Given the description of an element on the screen output the (x, y) to click on. 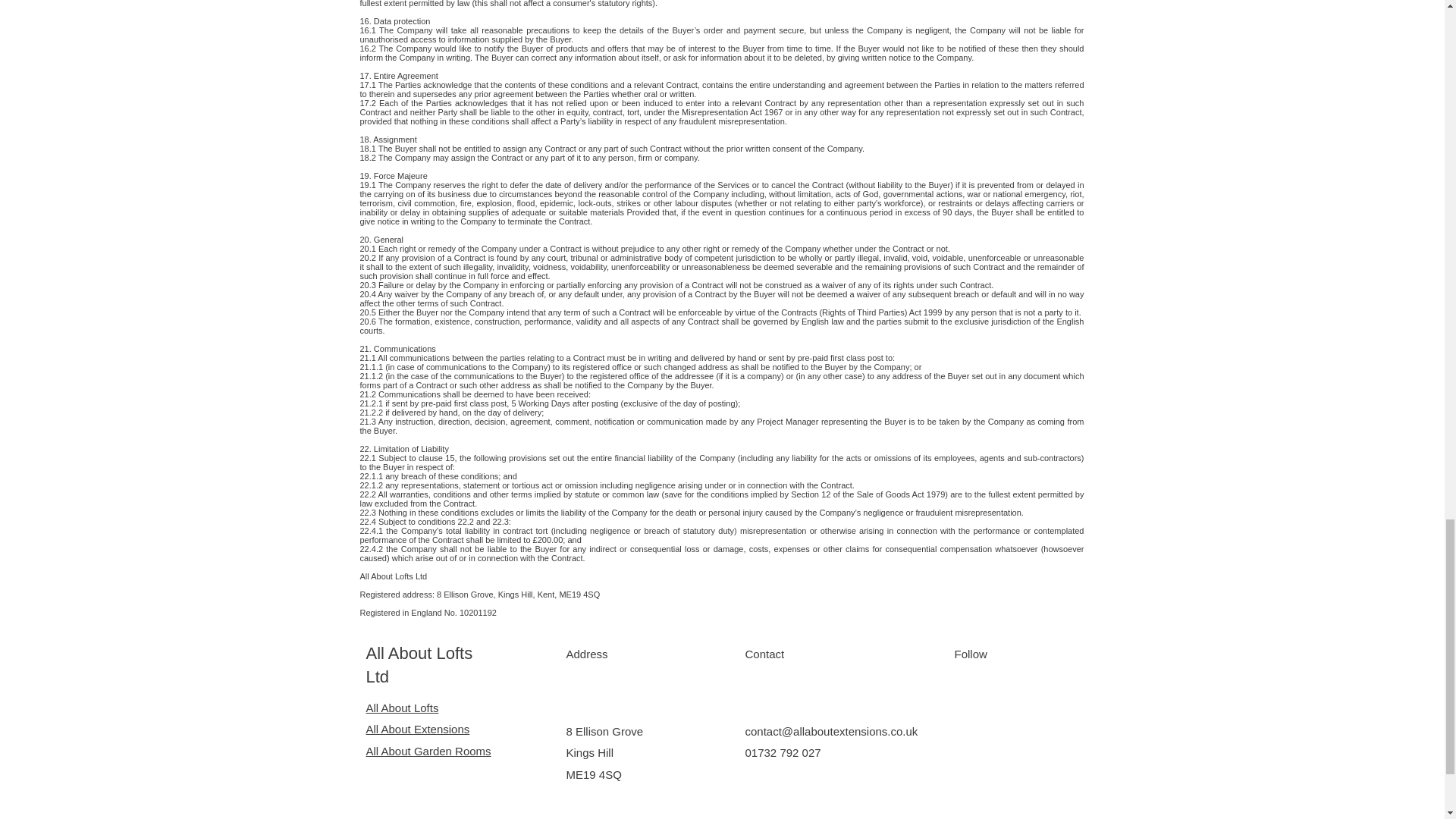
All About Garden Rooms (427, 750)
All About Lofts (401, 707)
All About Lofts Ltd (418, 664)
All About Extensions (416, 728)
